Given the description of an element on the screen output the (x, y) to click on. 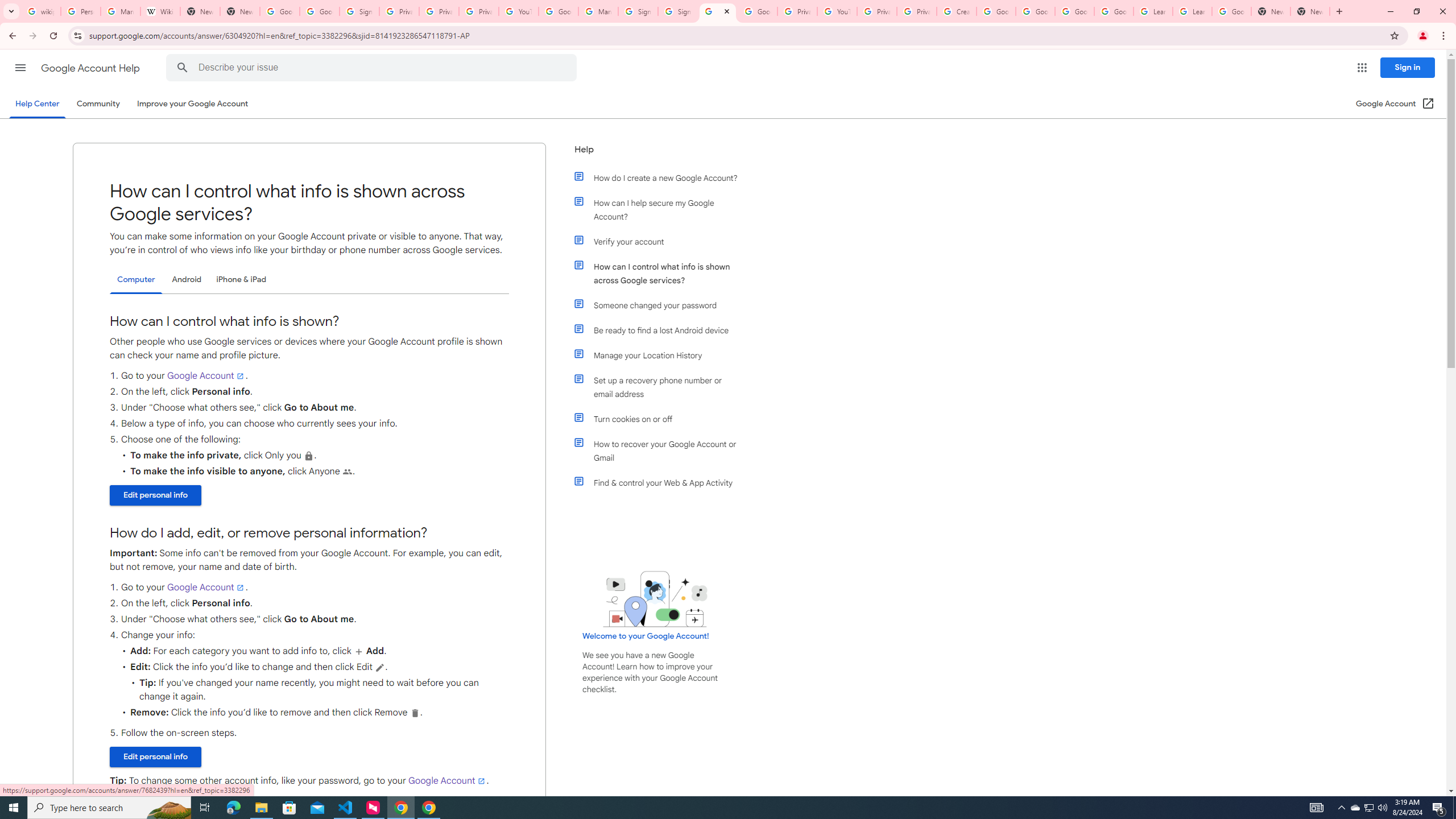
Google Account Help (995, 11)
Describe your issue (373, 67)
Set up a recovery phone number or email address (661, 387)
Computer (136, 280)
Manage your Location History - Google Search Help (120, 11)
How do I create a new Google Account? (661, 177)
People (347, 471)
How to recover your Google Account or Gmail (661, 450)
